Given the description of an element on the screen output the (x, y) to click on. 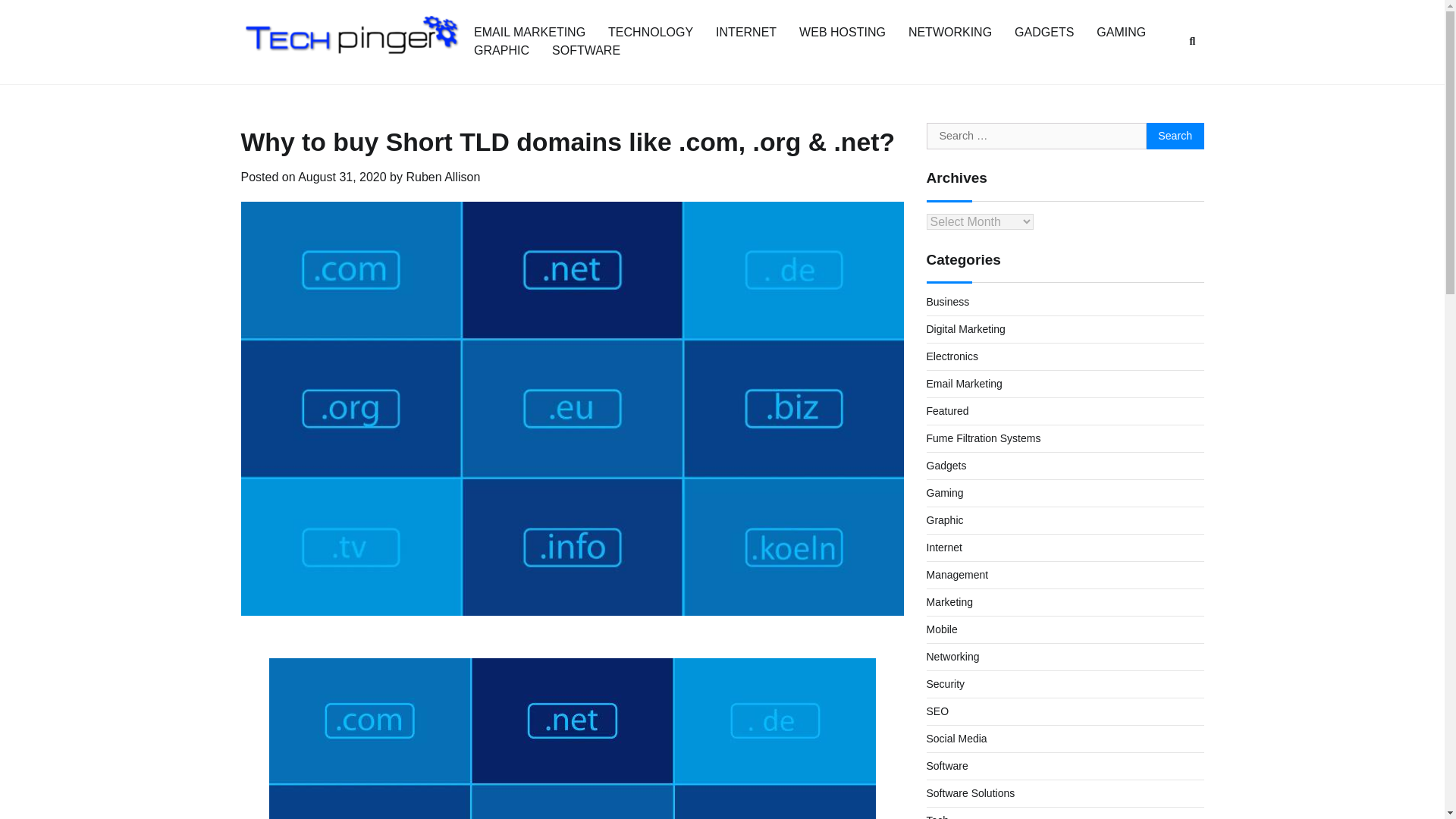
TECHNOLOGY (650, 31)
Ruben Allison (443, 176)
Email Marketing (964, 383)
Mobile (942, 629)
Search (1175, 135)
Featured (947, 410)
August 31, 2020 (342, 176)
Social Media (956, 738)
Internet (944, 547)
NETWORKING (949, 31)
Security (945, 684)
SOFTWARE (585, 49)
Software (947, 766)
Business (947, 301)
Gaming (944, 492)
